Given the description of an element on the screen output the (x, y) to click on. 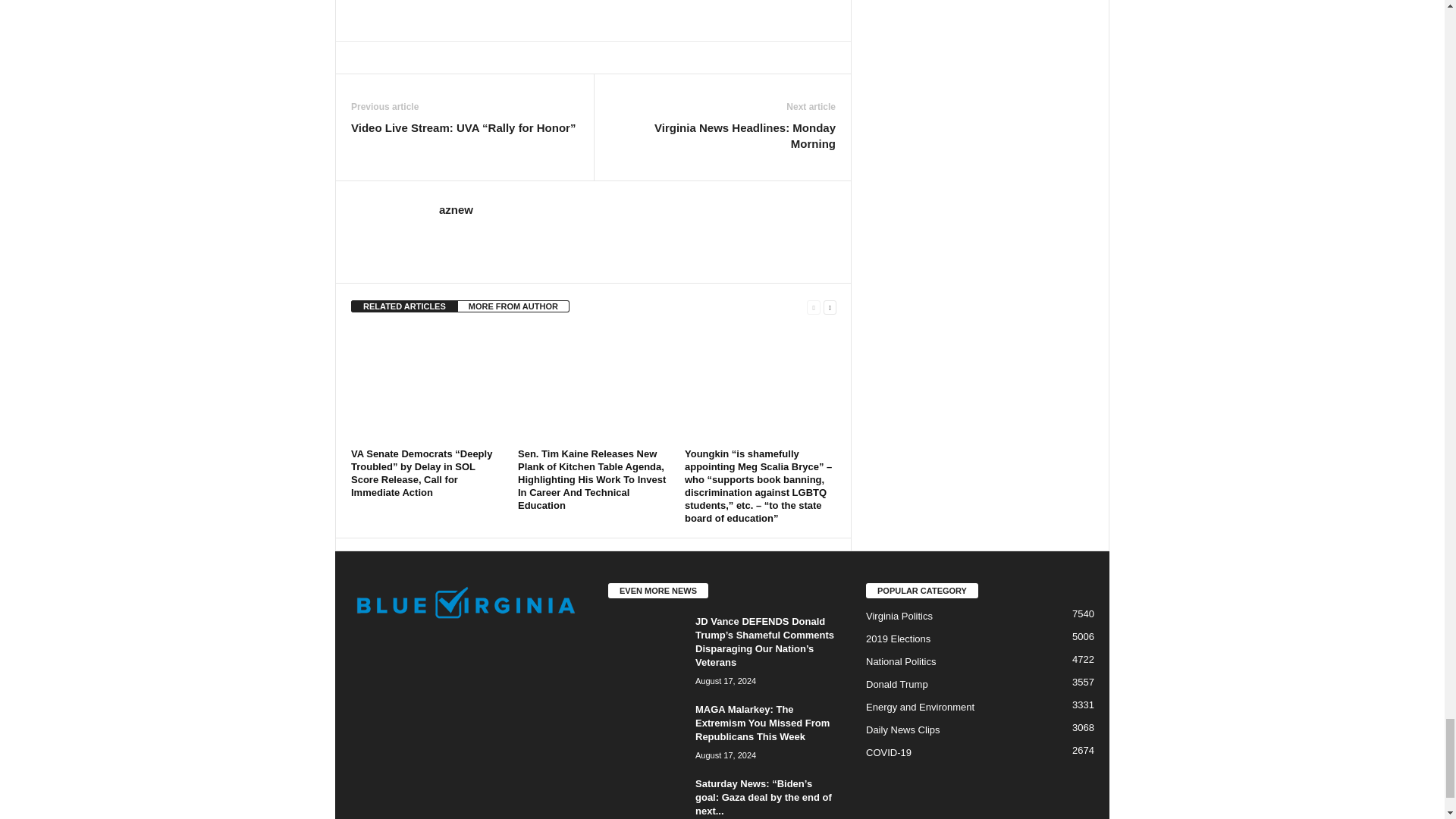
Virginia News Headlines: Monday Morning (721, 135)
aznew (456, 209)
RELATED ARTICLES (404, 306)
MORE FROM AUTHOR (513, 306)
